Given the description of an element on the screen output the (x, y) to click on. 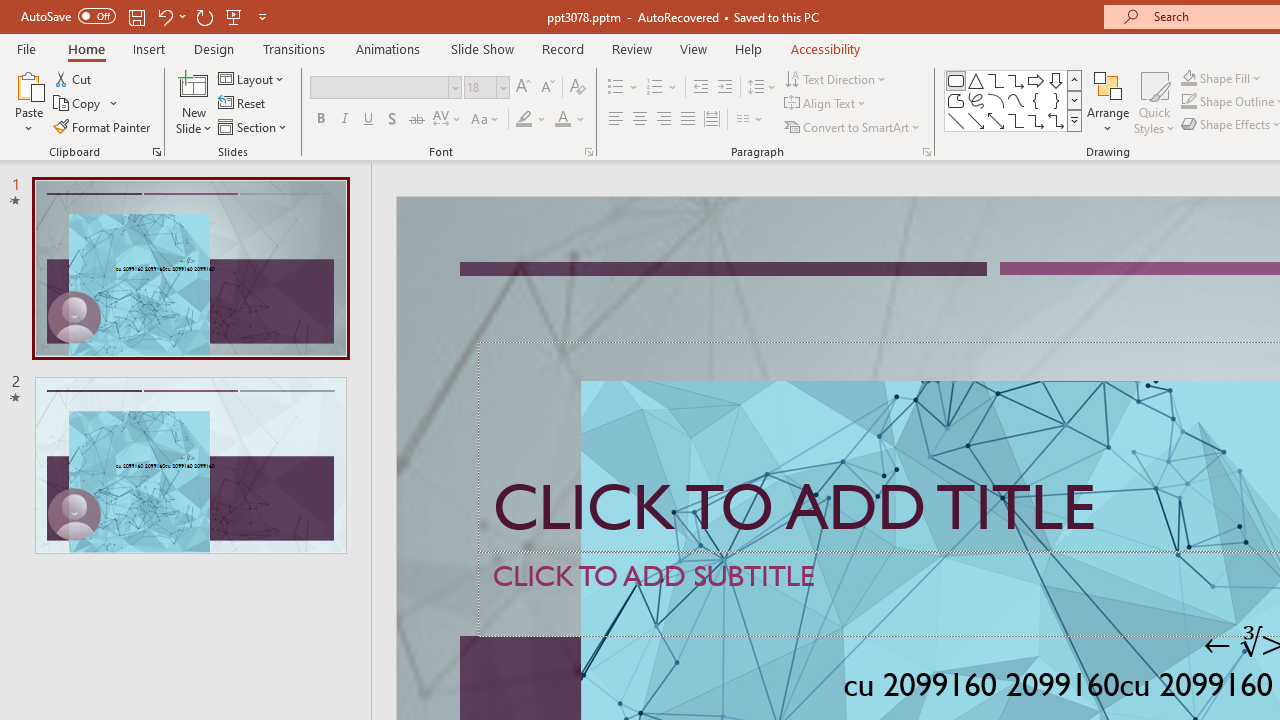
Line Arrow: Double (995, 120)
